Given the description of an element on the screen output the (x, y) to click on. 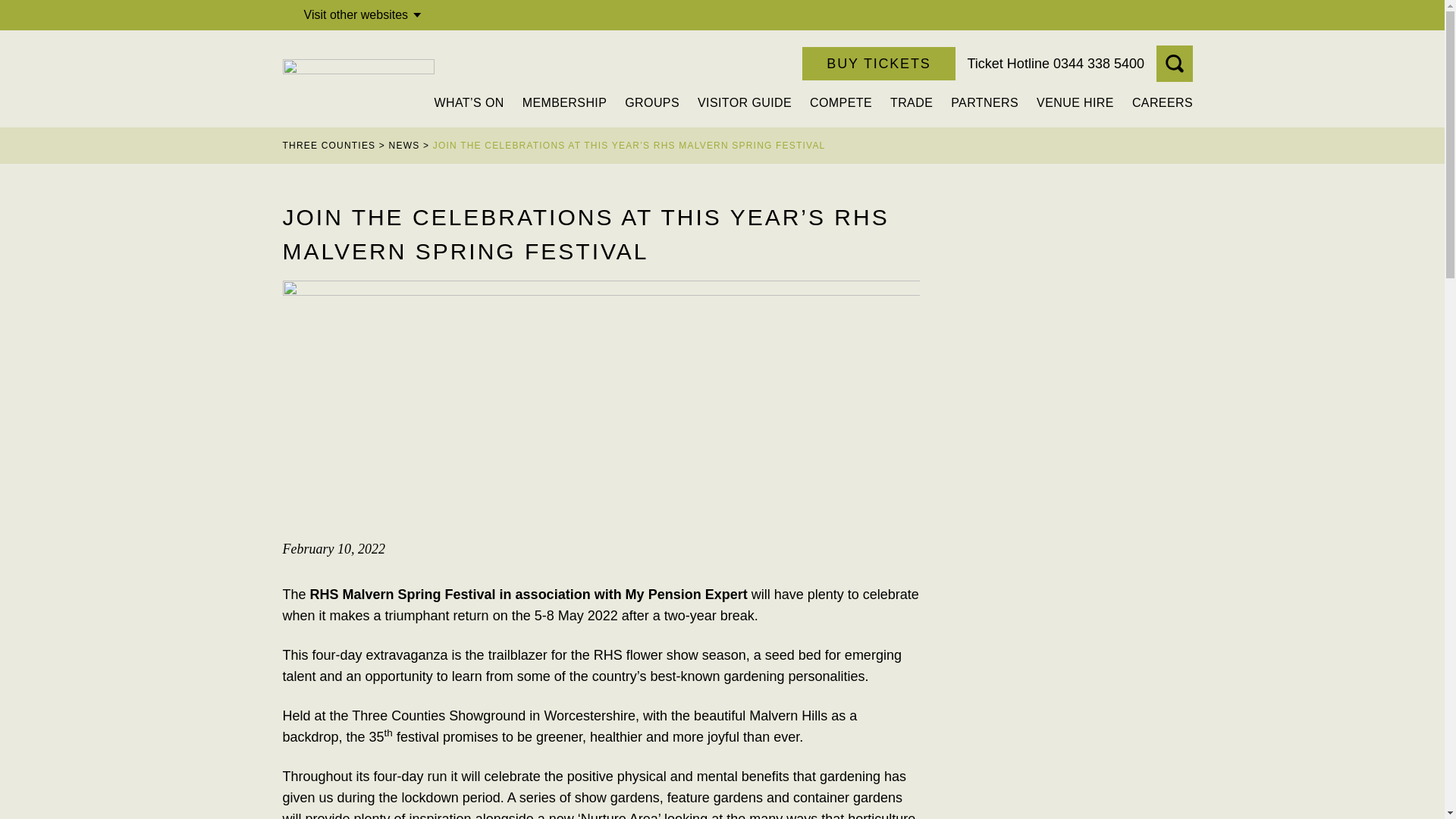
TRADE (911, 102)
VISITOR GUIDE (744, 102)
COMPETE (840, 102)
THREE COUNTIES (328, 145)
Visit other websites (365, 15)
Three Counties (357, 78)
MEMBERSHIP (564, 102)
CAREERS (1162, 102)
Call us on Ticket Hotline 0344 338 5400 (1056, 63)
